Given the description of an element on the screen output the (x, y) to click on. 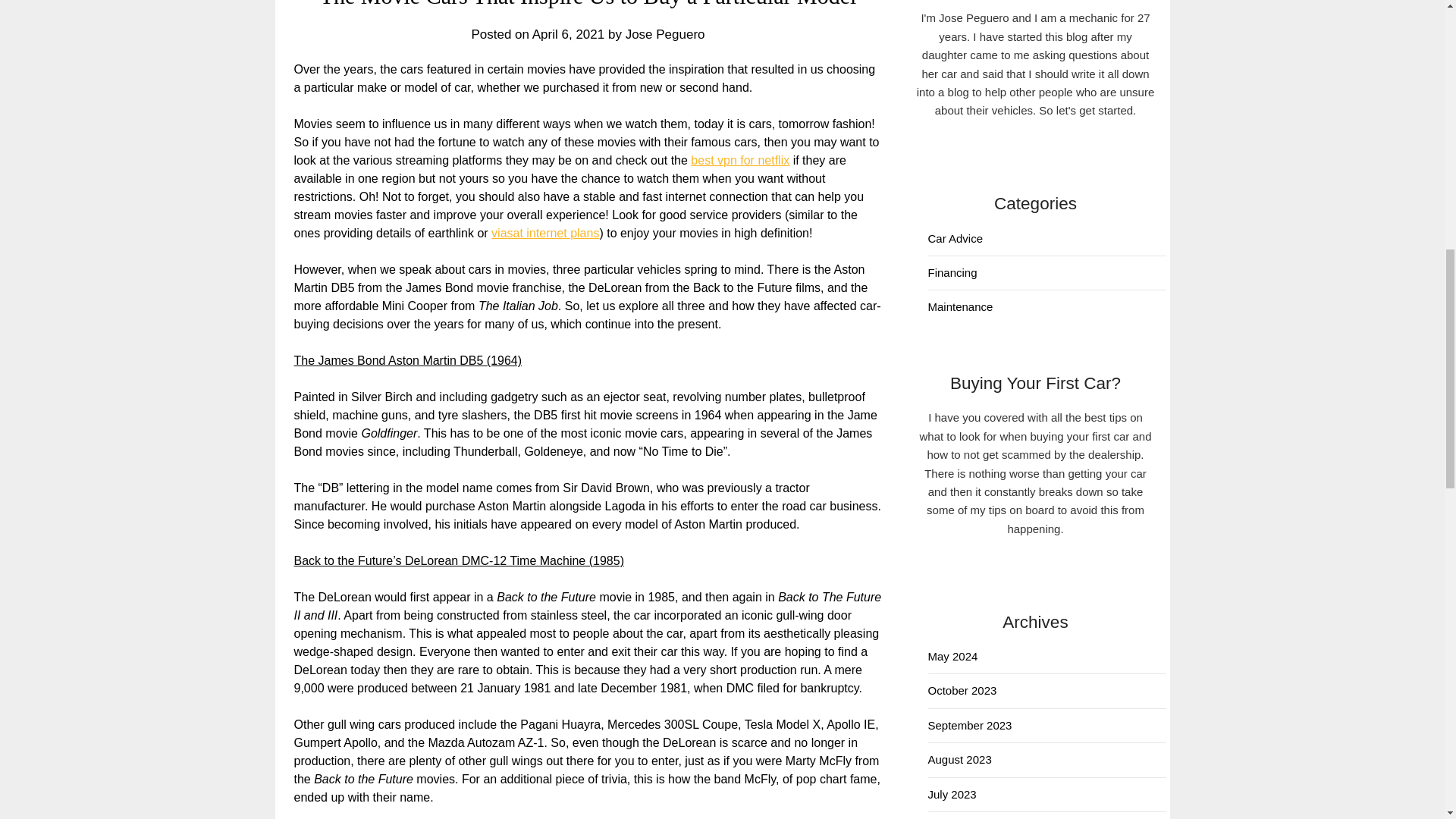
September 2023 (969, 725)
Car Advice (956, 237)
May 2024 (953, 656)
April 6, 2021 (568, 34)
Jose Peguero (665, 34)
Financing (952, 272)
August 2023 (959, 758)
Maintenance (960, 306)
best vpn for netflix (739, 160)
July 2023 (952, 793)
